Given the description of an element on the screen output the (x, y) to click on. 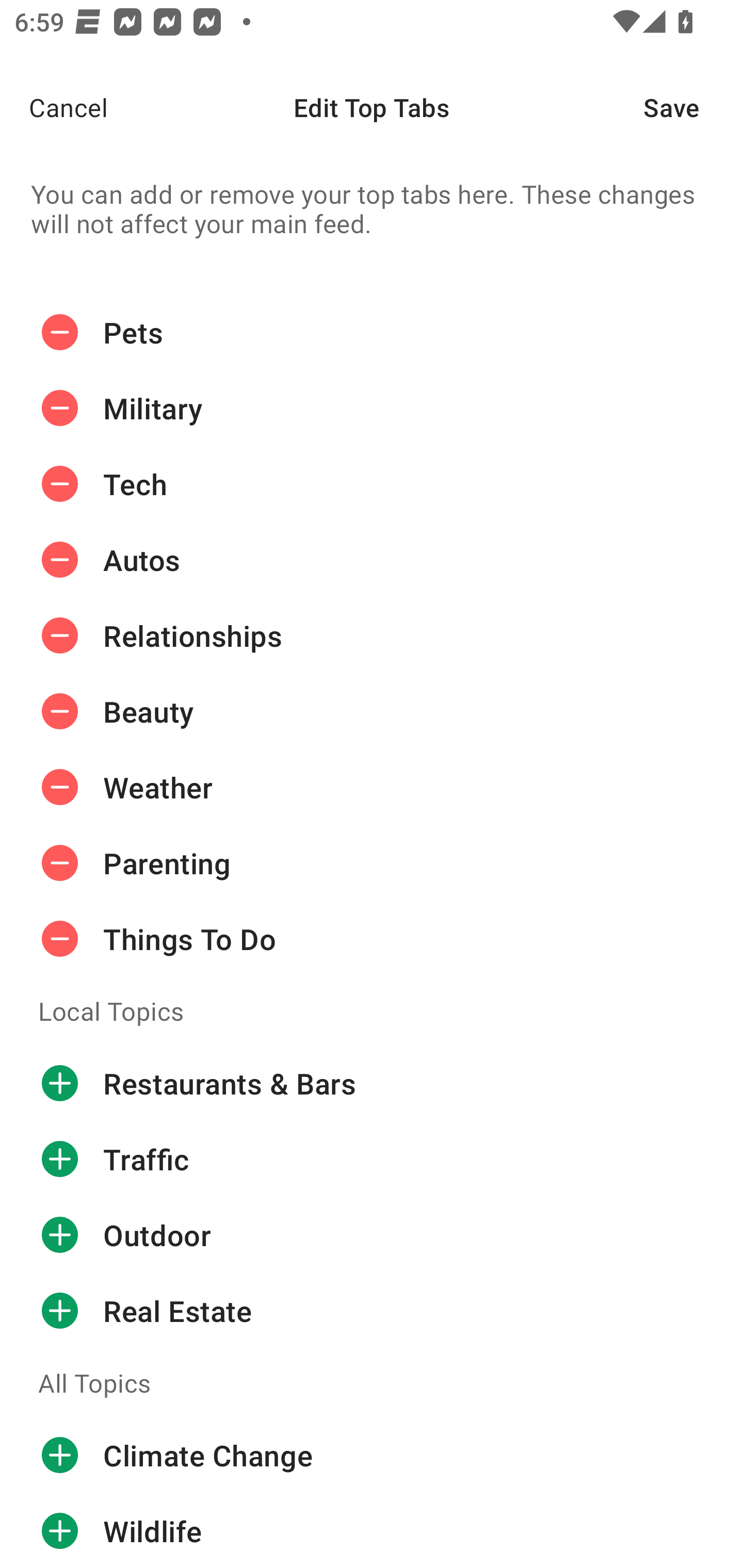
Cancel (53, 106)
Save (693, 106)
Pets (371, 332)
Military (371, 408)
Tech (371, 484)
Autos (371, 559)
Relationships (371, 635)
Beauty (371, 711)
Weather (371, 786)
Parenting (371, 862)
Things To Do (371, 938)
Restaurants & Bars (371, 1083)
Traffic (371, 1158)
Outdoor (371, 1234)
Real Estate (371, 1310)
Climate Change (371, 1454)
Wildlife (371, 1530)
